Given the description of an element on the screen output the (x, y) to click on. 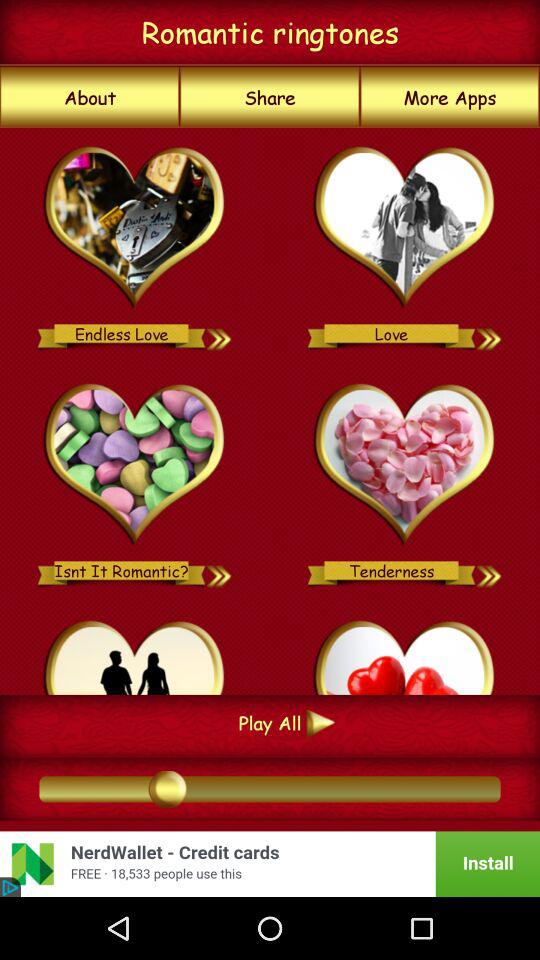
app icon (134, 654)
